Given the description of an element on the screen output the (x, y) to click on. 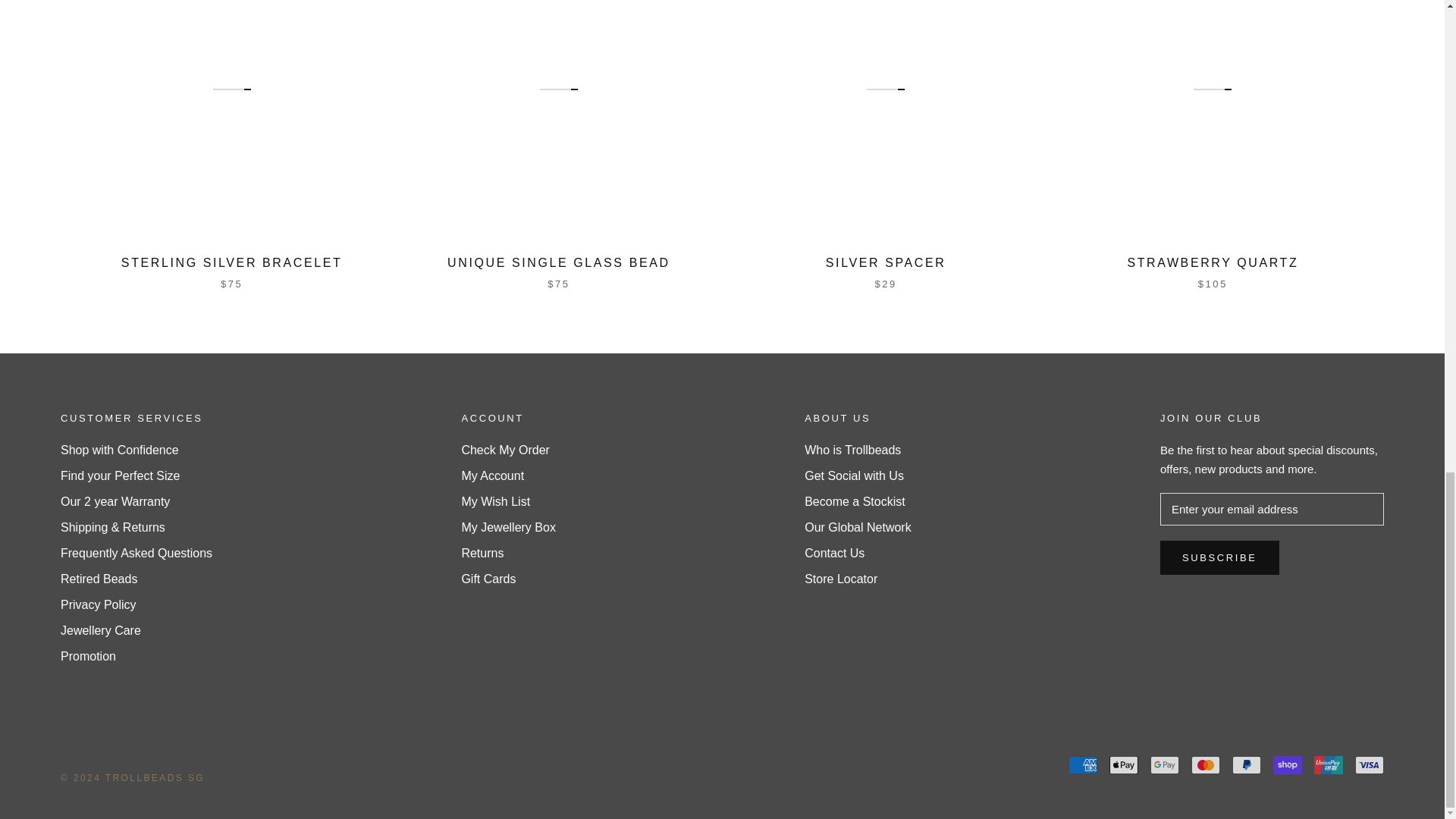
Apple Pay (1123, 764)
American Express (1082, 764)
Mastercard (1205, 764)
Google Pay (1164, 764)
PayPal (1245, 764)
Union Pay (1328, 764)
Visa (1369, 764)
Shop Pay (1286, 764)
